Given the description of an element on the screen output the (x, y) to click on. 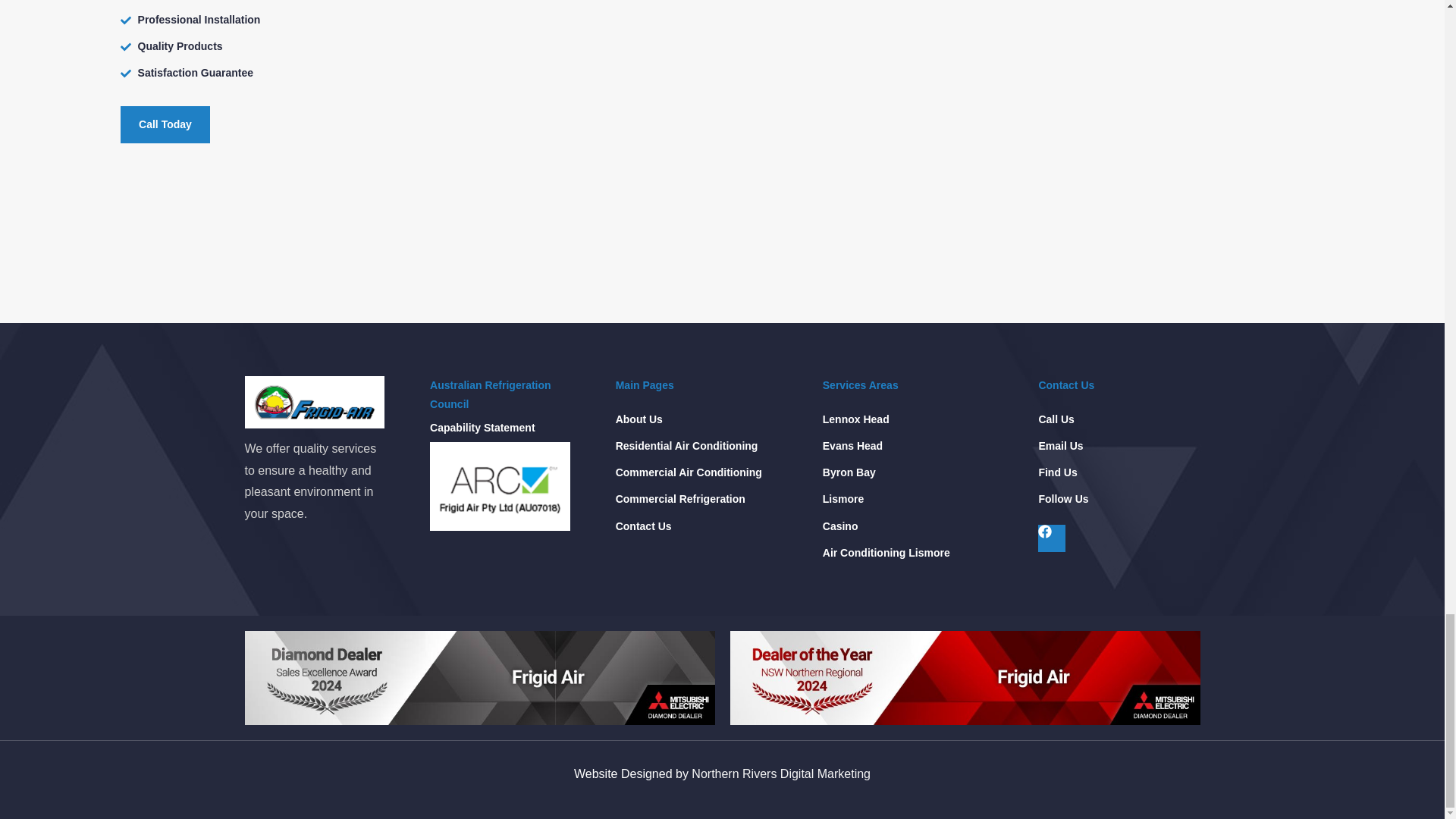
Air Conditioning Lismore (886, 552)
Call Today (164, 124)
Call Us (1056, 419)
Evans Head (852, 445)
Residential Air Conditioning (686, 445)
Commercial Air Conditioning (688, 472)
Byron Bay (849, 472)
Lismore (842, 498)
Find Us (1057, 472)
Satisfaction Guarantee (385, 72)
Casino (840, 526)
Follow Us (1062, 498)
Commercial Refrigeration (680, 498)
Contact Us (643, 526)
Email Us (1060, 445)
